Given the description of an element on the screen output the (x, y) to click on. 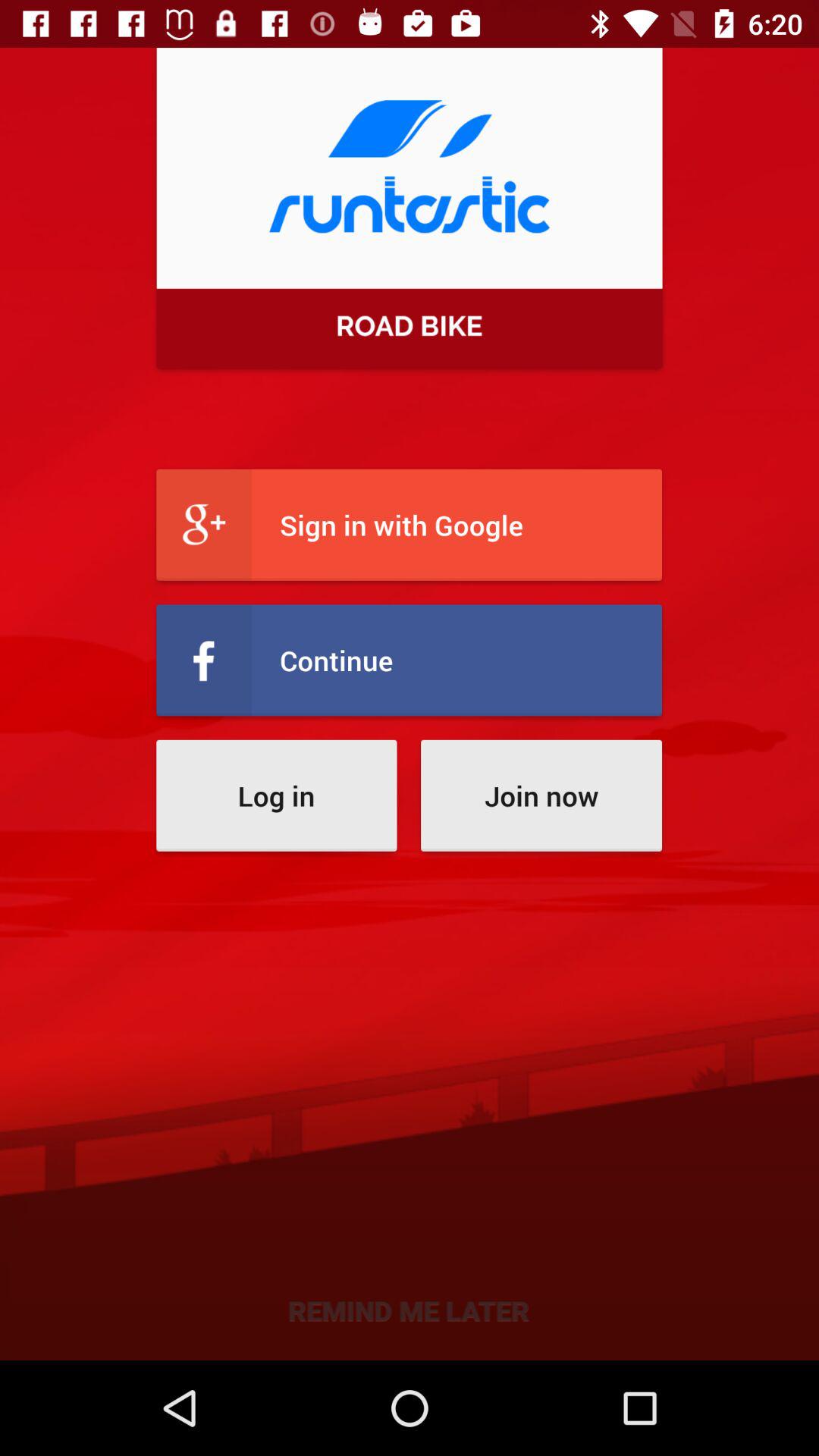
click continue (409, 660)
